Given the description of an element on the screen output the (x, y) to click on. 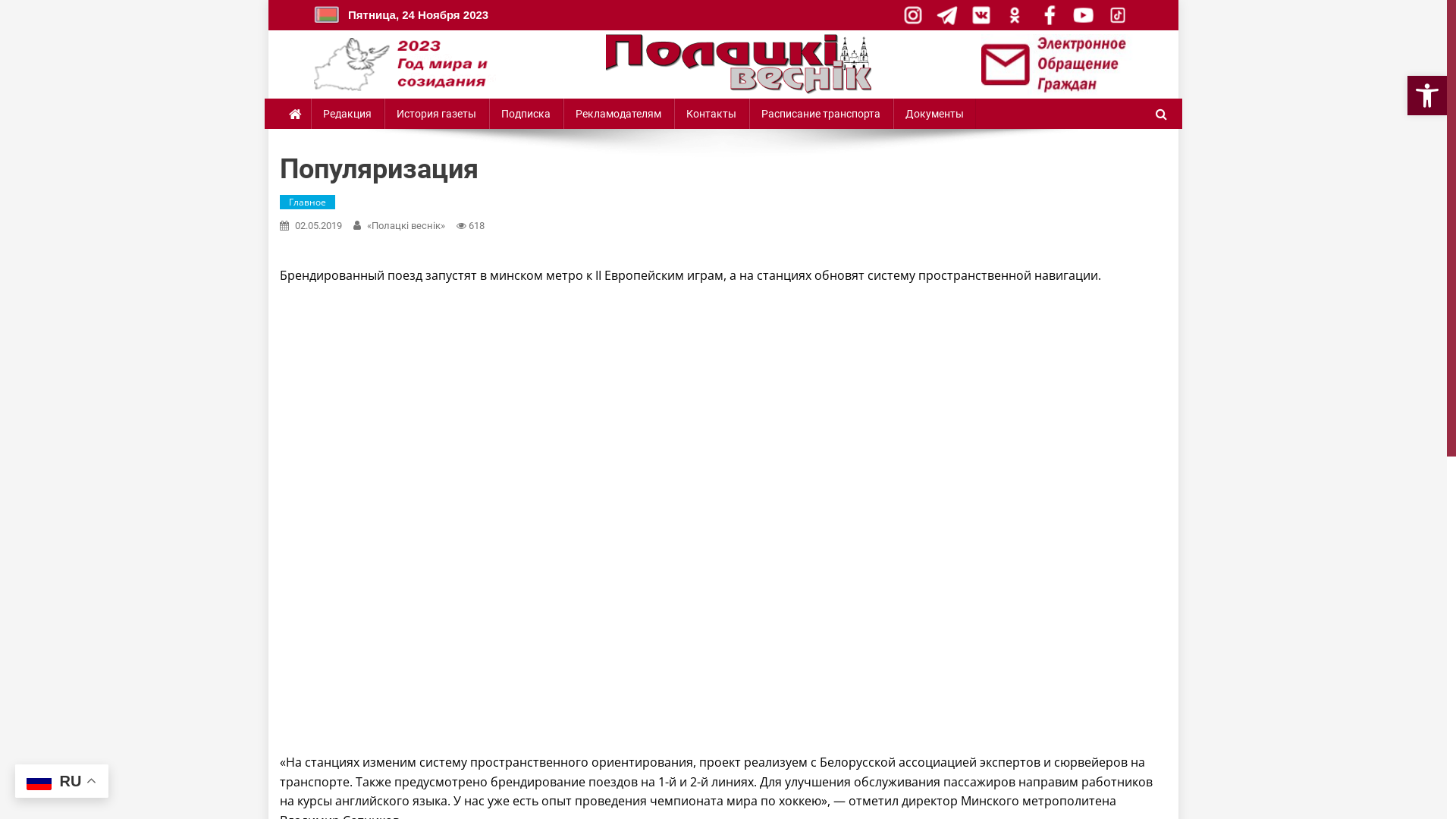
02.05.2019 Element type: text (318, 225)
